Given the description of an element on the screen output the (x, y) to click on. 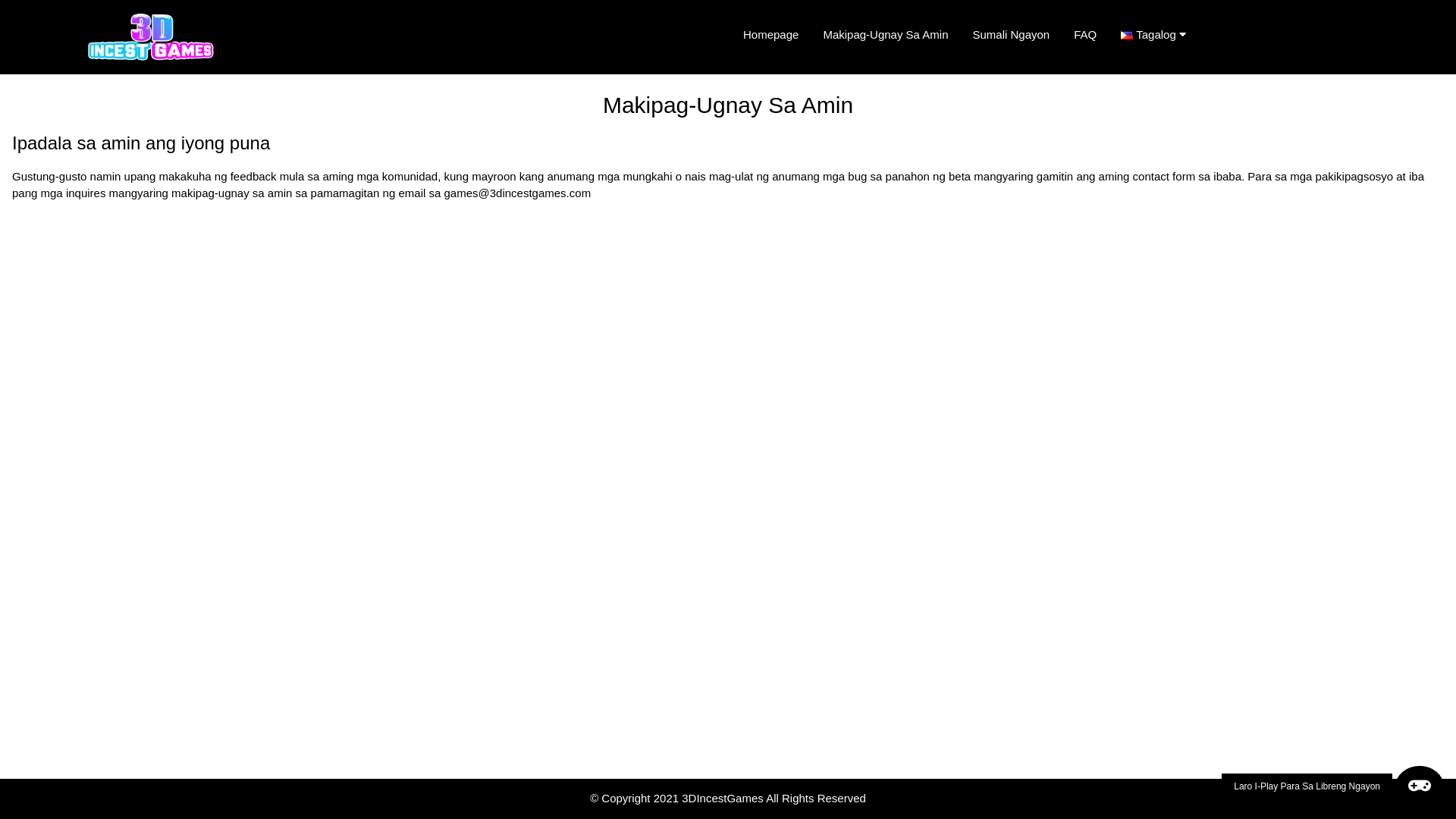
Tagalog Element type: text (1159, 35)
Sumali Ngayon Element type: text (1010, 35)
Homepage Element type: text (770, 35)
FAQ Element type: text (1084, 35)
Laro I-Play Para Sa Libreng Ngayon Element type: text (1332, 785)
Makipag-Ugnay Sa Amin Element type: text (885, 35)
